Given the description of an element on the screen output the (x, y) to click on. 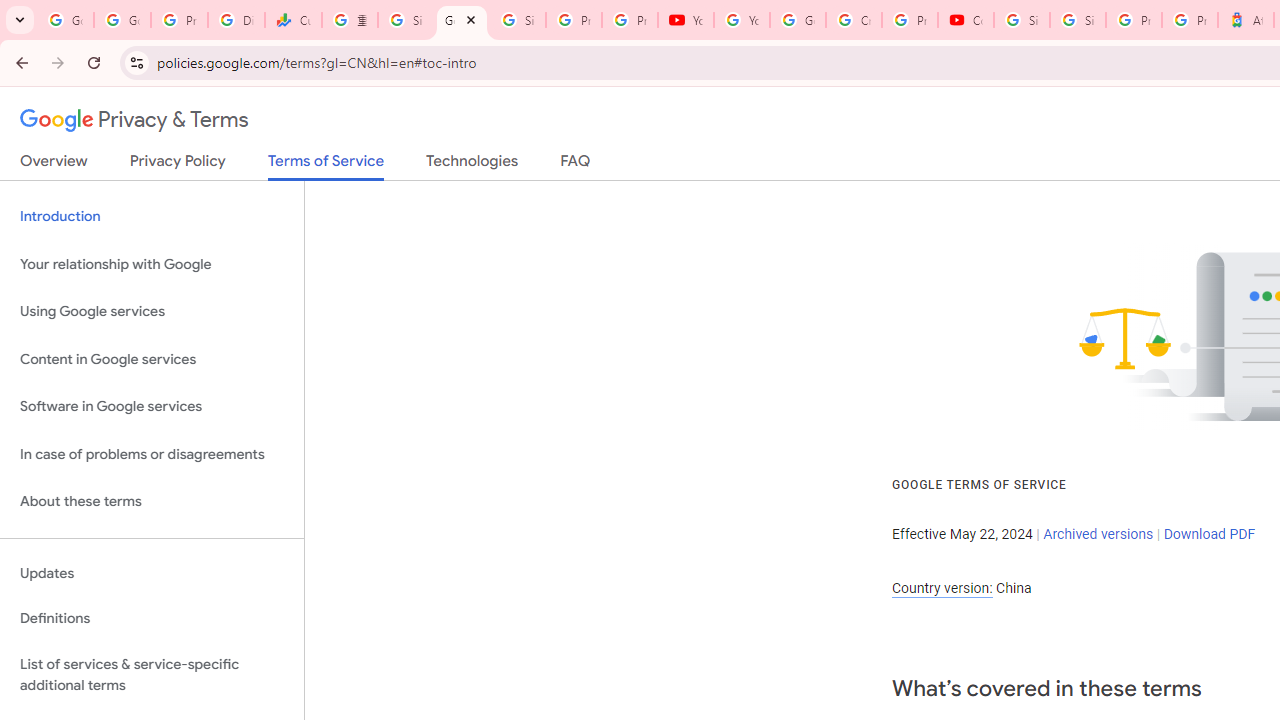
Content Creator Programs & Opportunities - YouTube Creators (966, 20)
Google Account Help (797, 20)
Sign in - Google Accounts (518, 20)
Archived versions (1098, 533)
Google Workspace Admin Community (65, 20)
